Given the description of an element on the screen output the (x, y) to click on. 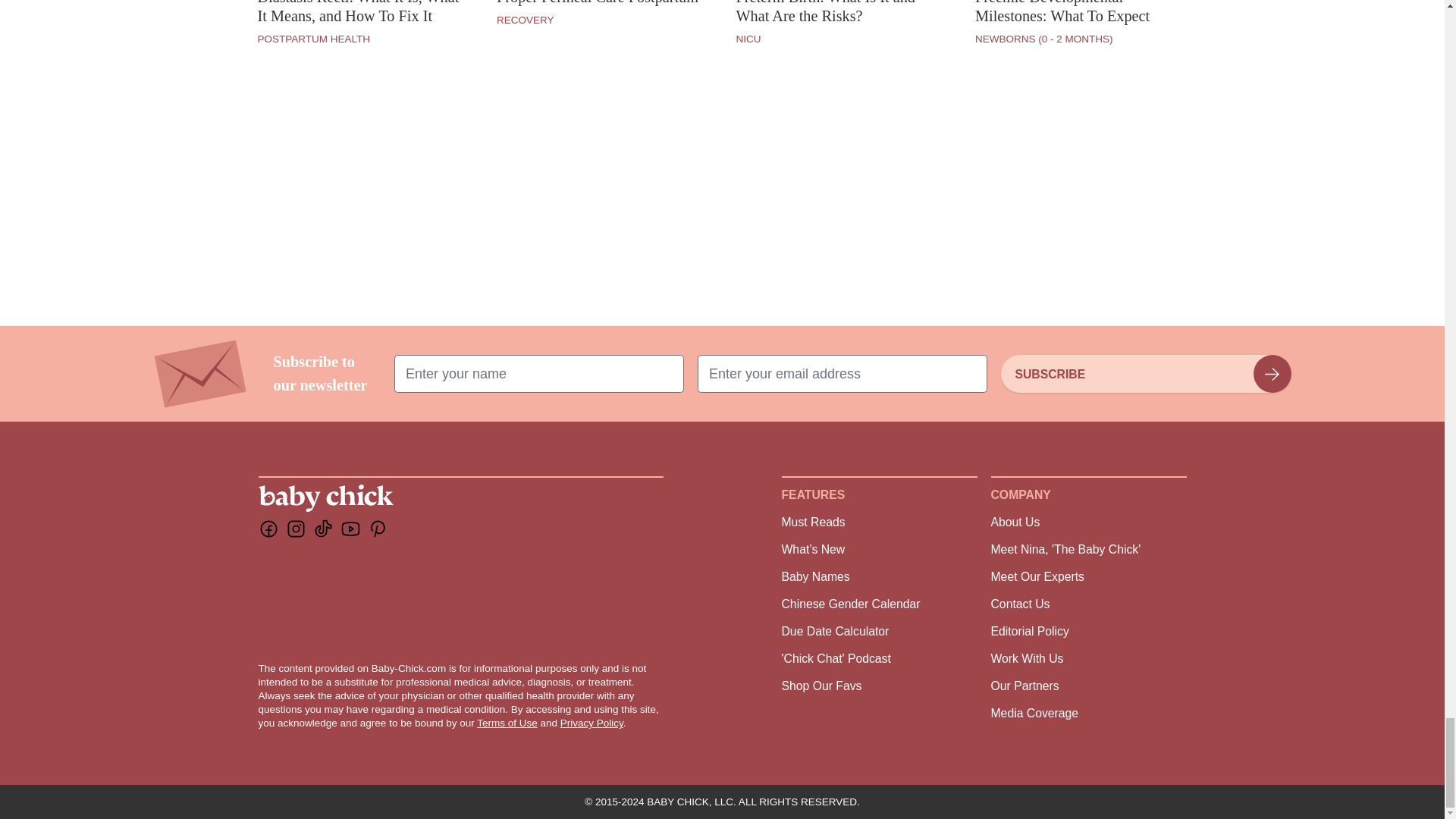
Subscribe (1145, 373)
